Given the description of an element on the screen output the (x, y) to click on. 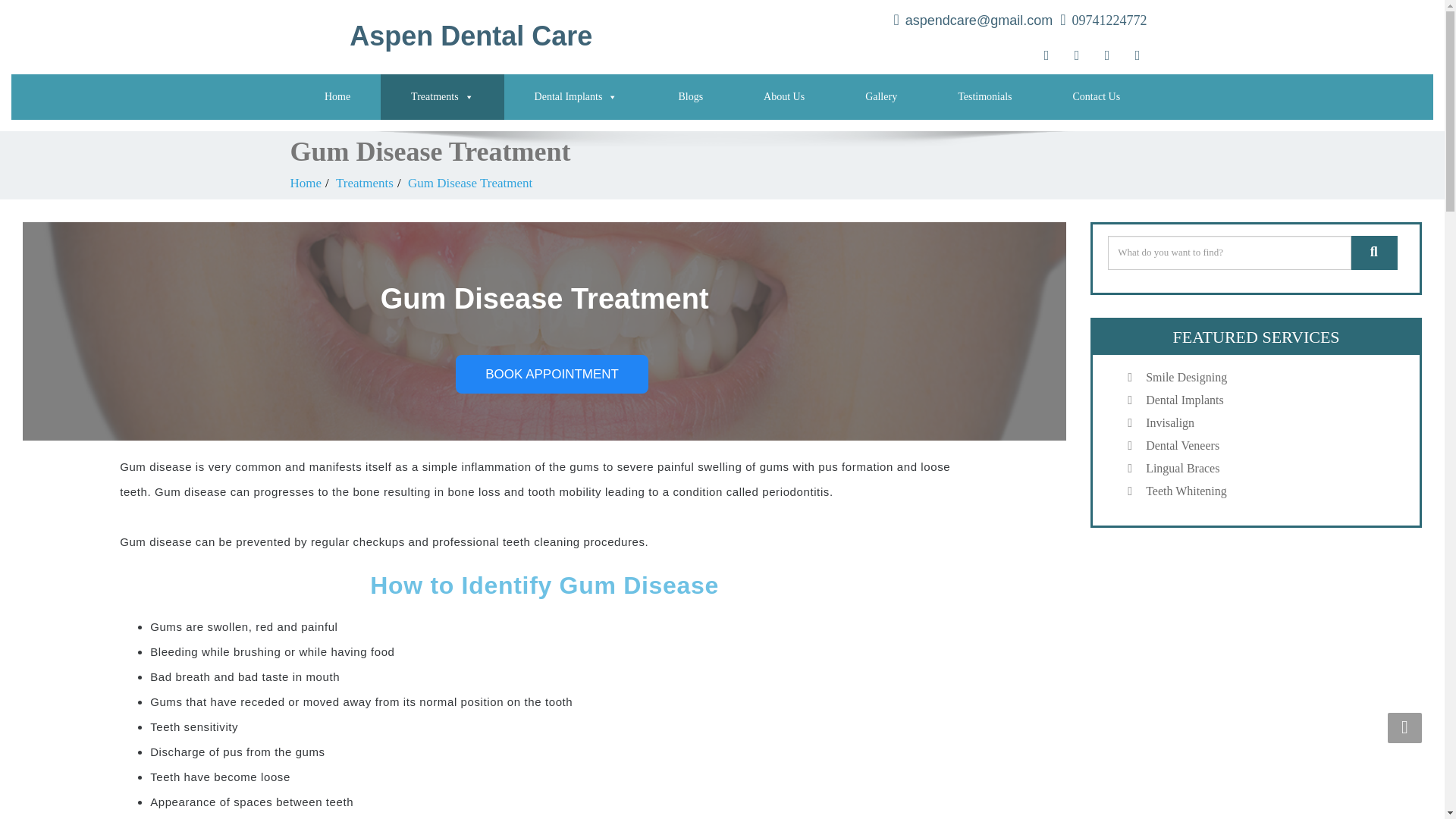
Dental Implants (575, 96)
Go Top (1404, 727)
Linkedin (1075, 57)
Treatments (441, 96)
09741224772 (1109, 20)
Aspen Dental Care (499, 37)
gplus (1106, 57)
Aspen Dental Care (499, 37)
instagram (1137, 57)
Home (337, 96)
